Given the description of an element on the screen output the (x, y) to click on. 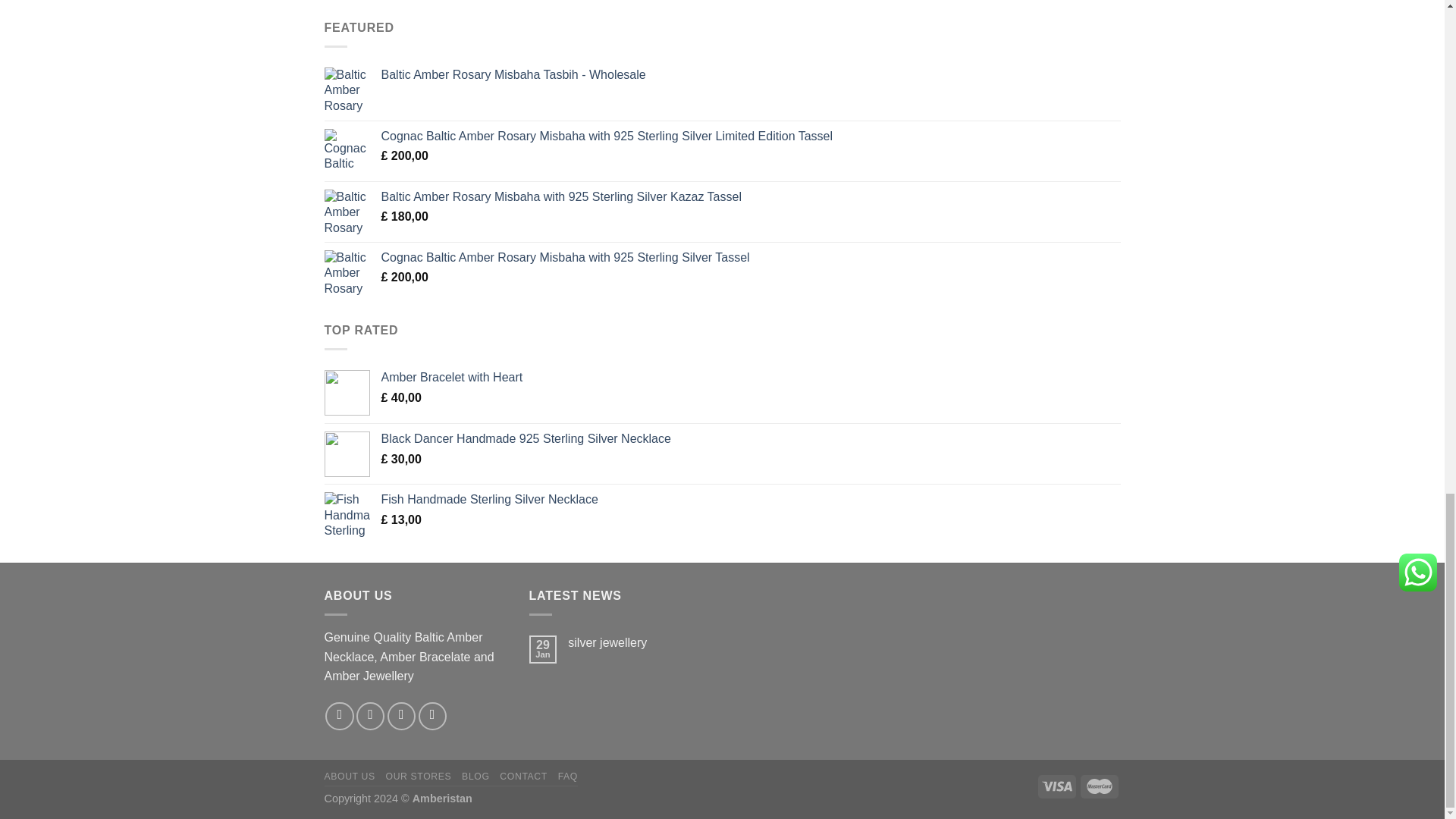
silver jewellery (638, 642)
